Given the description of an element on the screen output the (x, y) to click on. 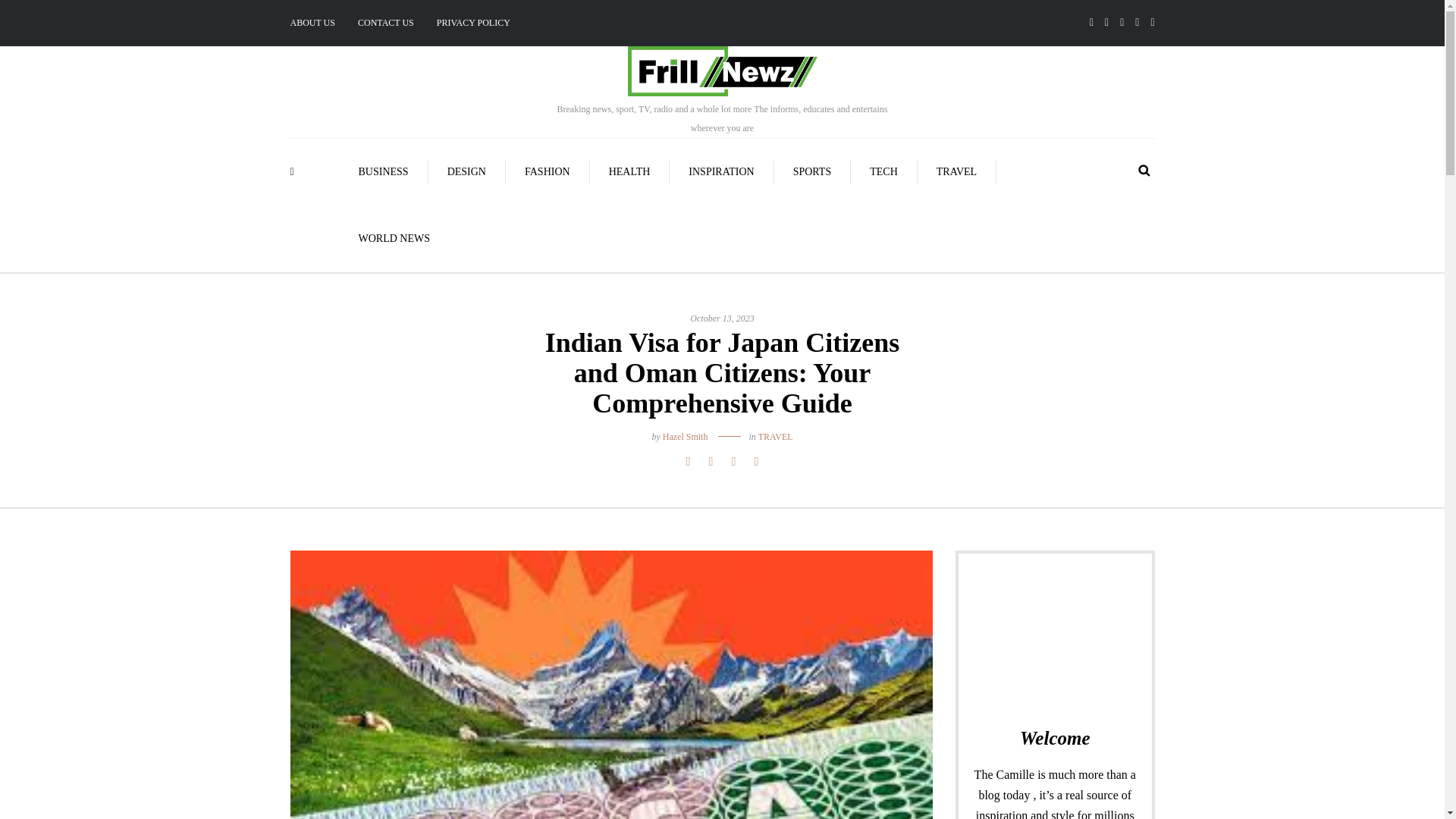
Share this (687, 461)
CONTACT US (385, 22)
Share with Google Plus (733, 461)
TRAVEL (956, 171)
INSPIRATION (721, 171)
Hazel Smith (684, 436)
ABOUT US (317, 22)
Posts by Hazel Smith (684, 436)
FASHION (547, 171)
PRIVACY POLICY (473, 22)
DESIGN (466, 171)
BUSINESS (383, 171)
HEALTH (629, 171)
TECH (883, 171)
WORLD NEWS (394, 238)
